Given the description of an element on the screen output the (x, y) to click on. 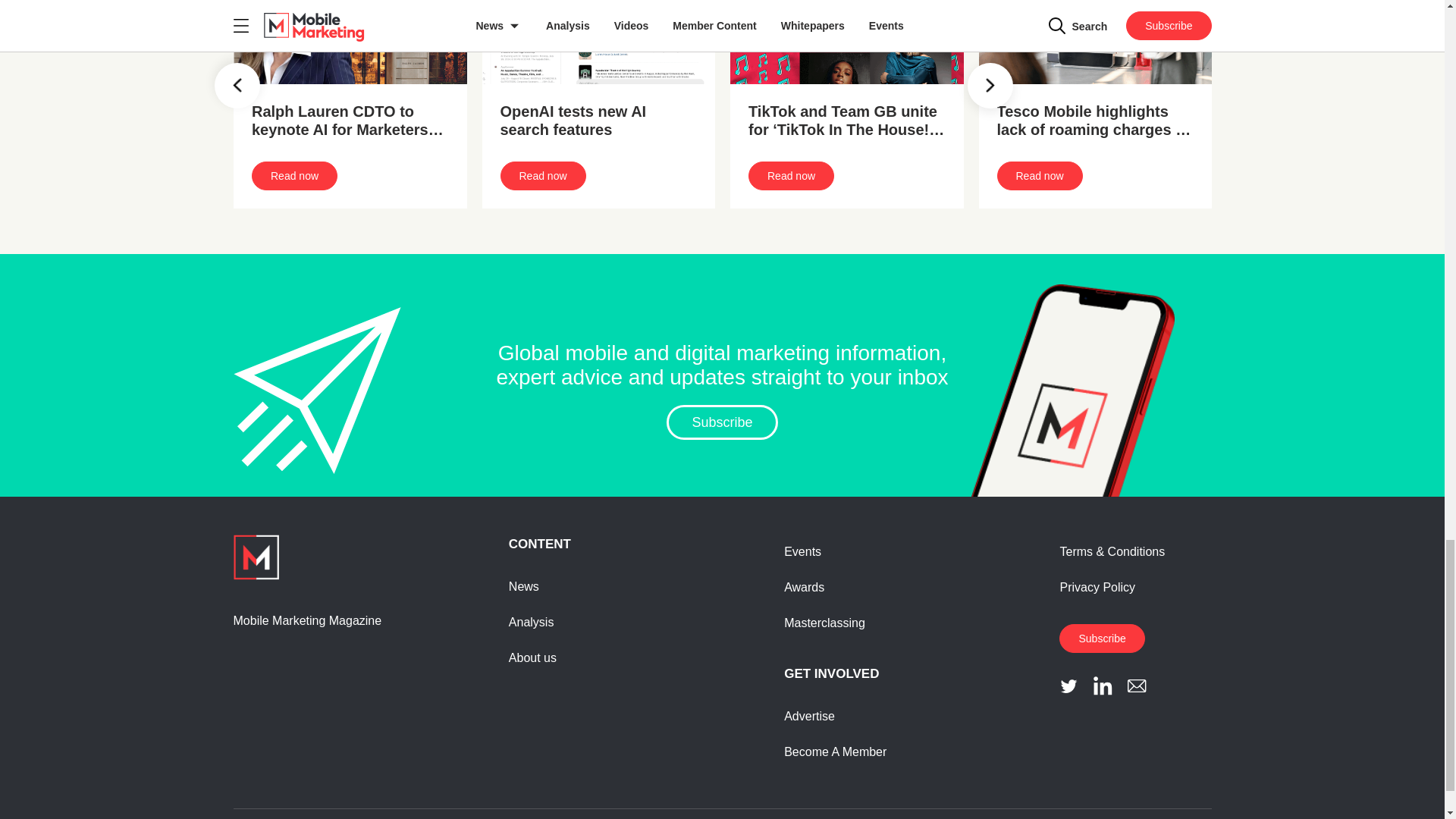
Twitter icon (1068, 685)
